Given the description of an element on the screen output the (x, y) to click on. 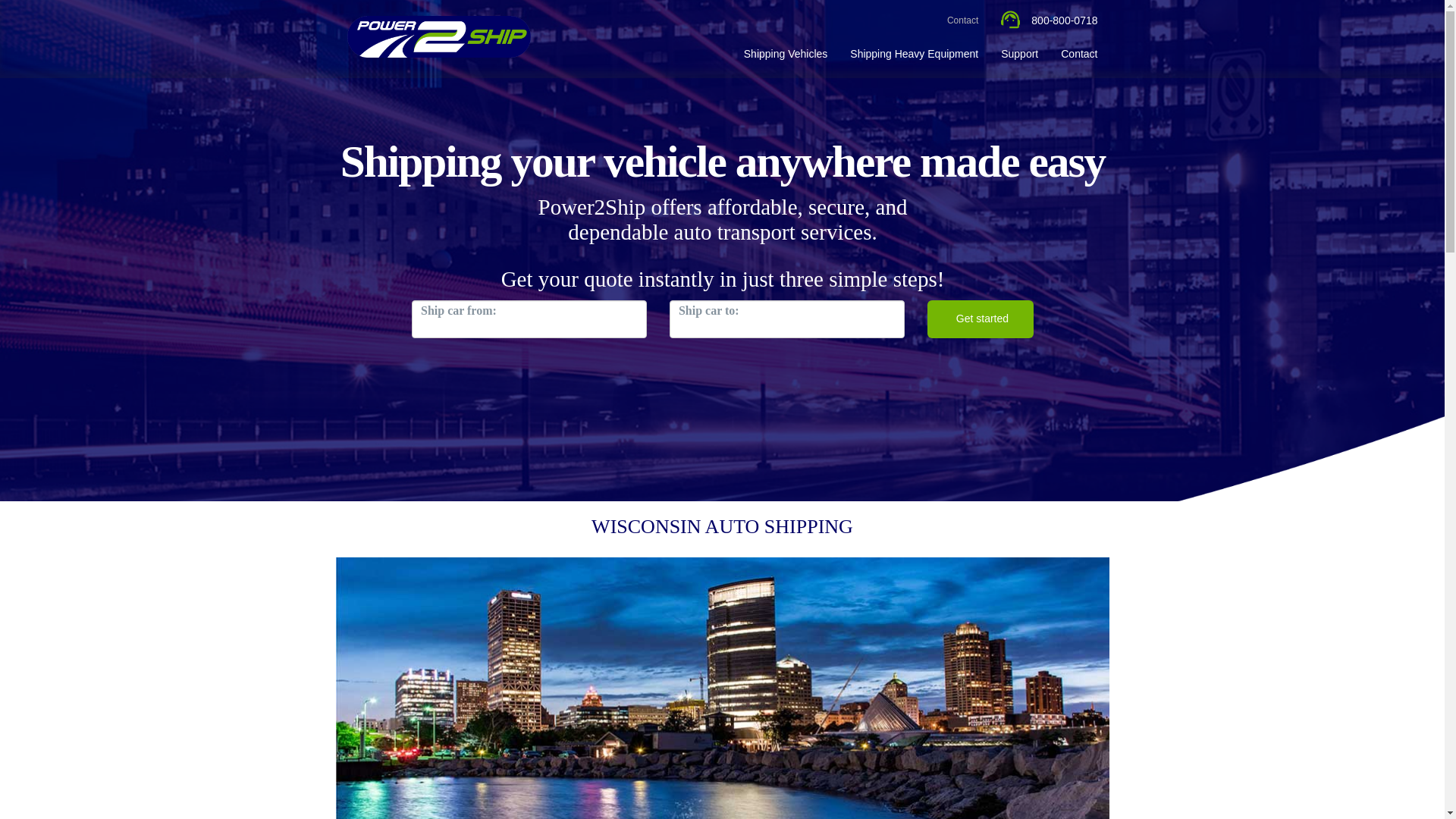
Get started (979, 319)
Contact (963, 18)
Shipping Vehicles (786, 52)
800-800-0718 (1049, 19)
Contact (1078, 52)
Shipping Heavy Equipment (914, 52)
Support (1019, 52)
